Given the description of an element on the screen output the (x, y) to click on. 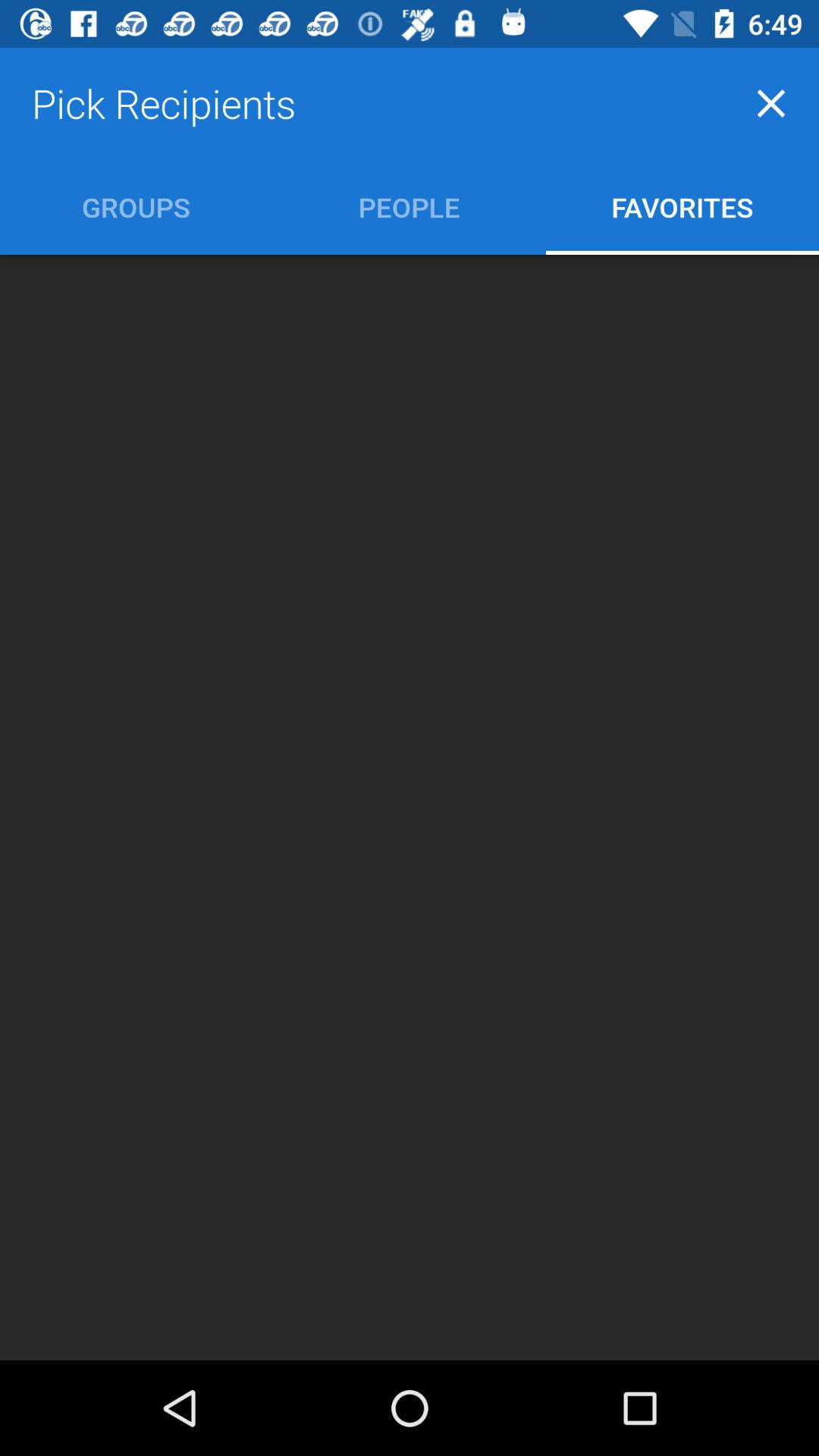
press icon to the right of groups (409, 206)
